Given the description of an element on the screen output the (x, y) to click on. 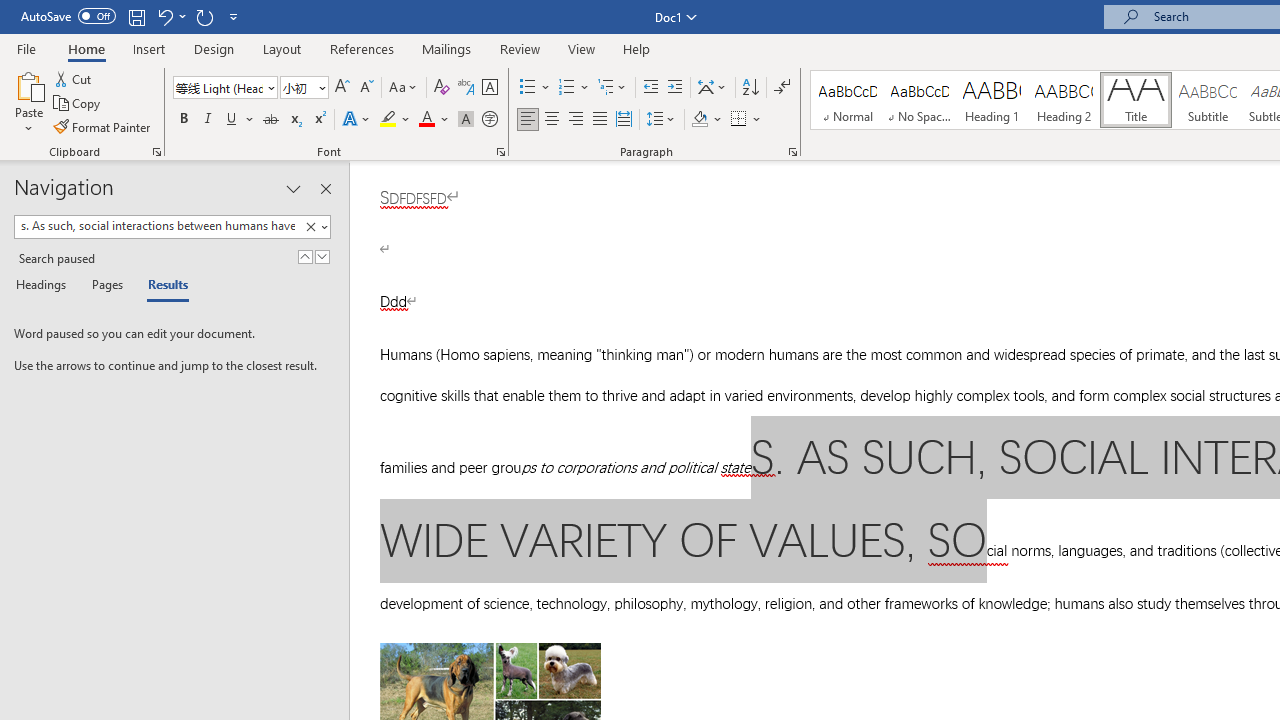
Font Color RGB(255, 0, 0) (426, 119)
Clear (314, 227)
Previous Result (304, 256)
Undo Style (170, 15)
